Given the description of an element on the screen output the (x, y) to click on. 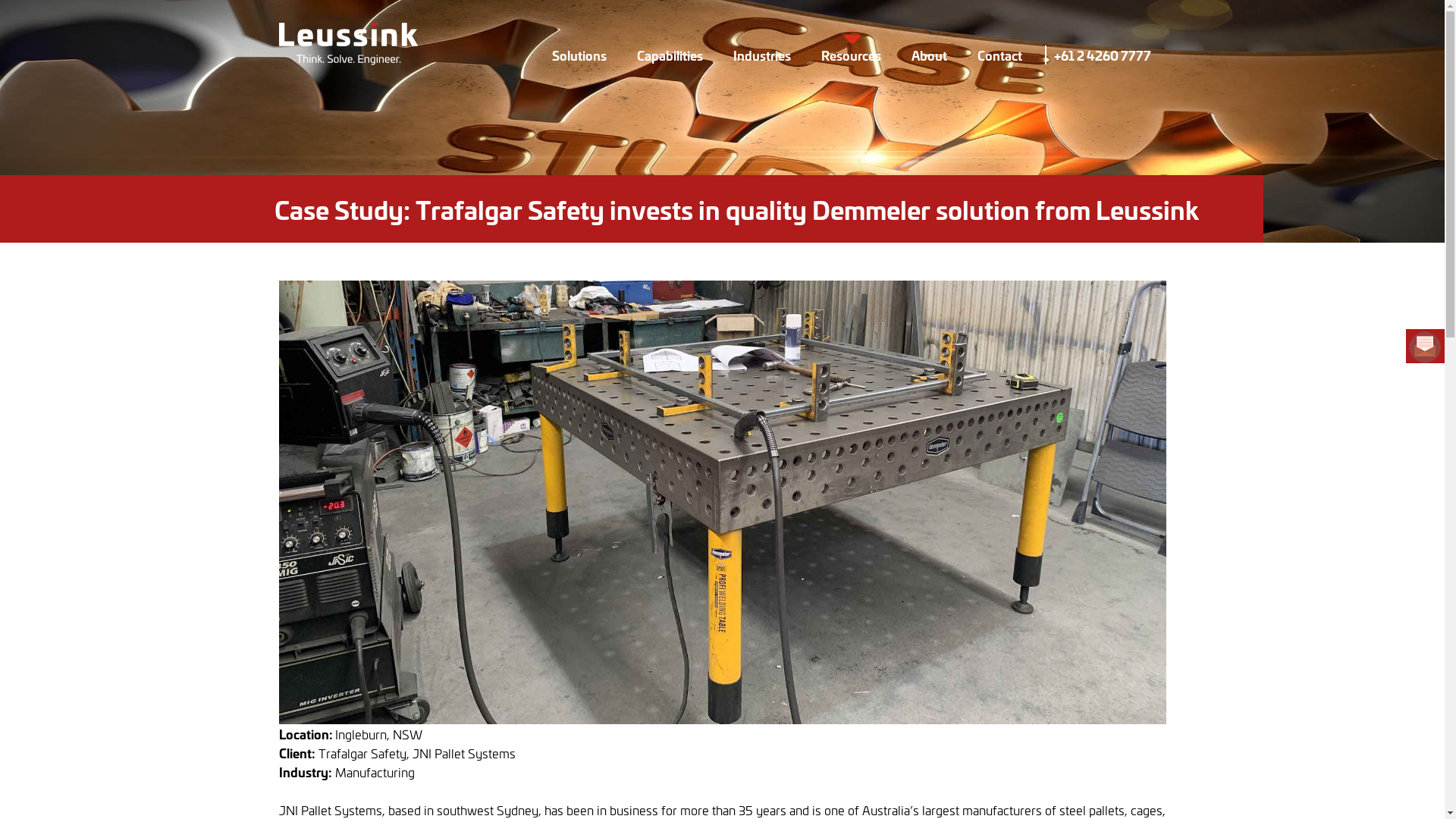
Logo Element type: hover (348, 40)
Solutions Element type: text (579, 54)
About Element type: text (928, 54)
Contact Element type: text (999, 54)
+61 2 4260 7777 Element type: text (1102, 54)
Capabilities Element type: text (669, 54)
Industries Element type: text (760, 54)
Resources Element type: text (850, 54)
